Given the description of an element on the screen output the (x, y) to click on. 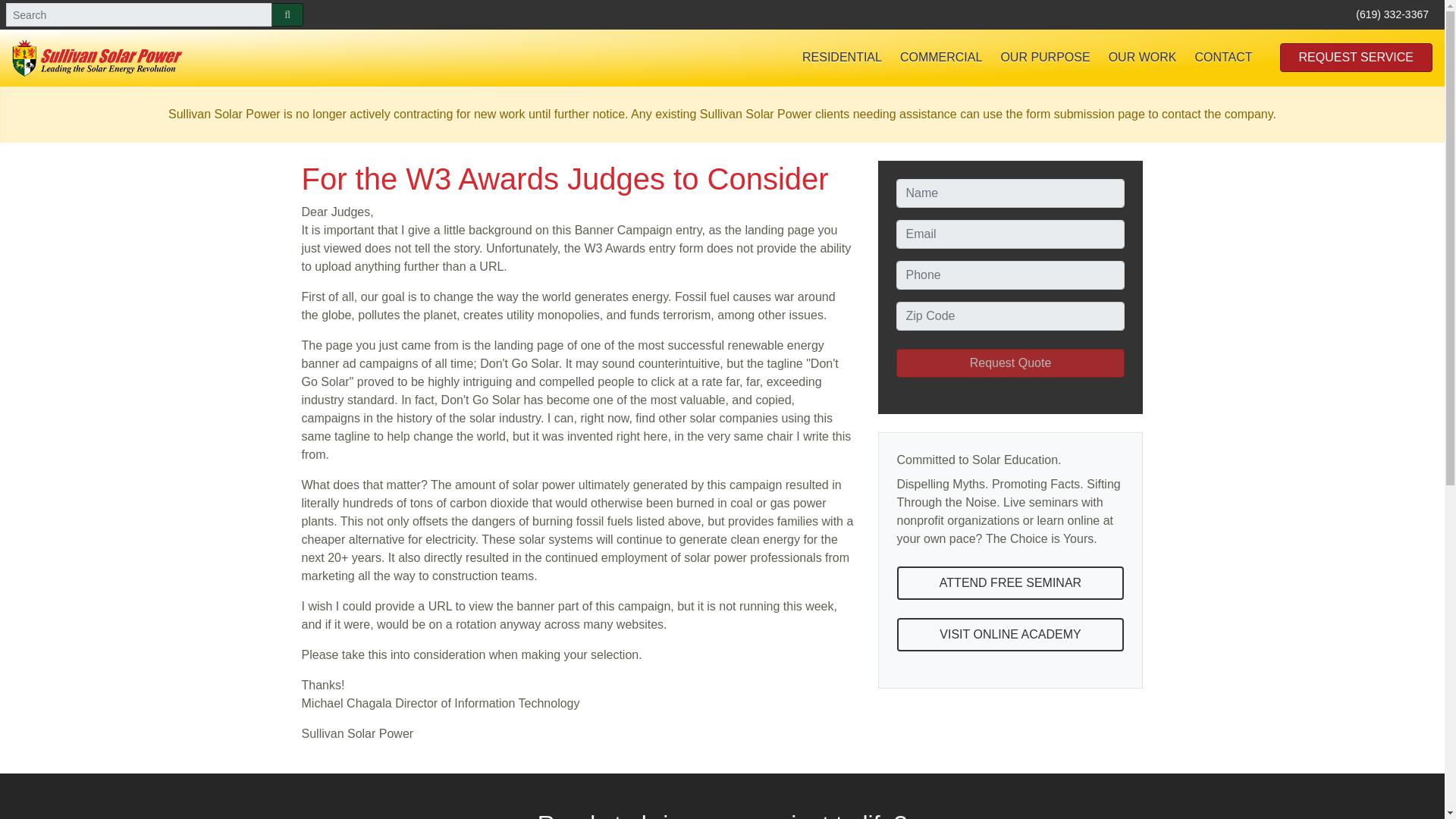
Request Quote (1010, 362)
OUR WORK (1142, 57)
COMMERCIAL (941, 57)
OUR PURPOSE (1045, 57)
CONTACT (1222, 57)
RESIDENTIAL (842, 57)
ATTEND FREE SEMINAR (1010, 582)
VISIT ONLINE ACADEMY (1010, 634)
REQUEST SERVICE (1355, 57)
